Given the description of an element on the screen output the (x, y) to click on. 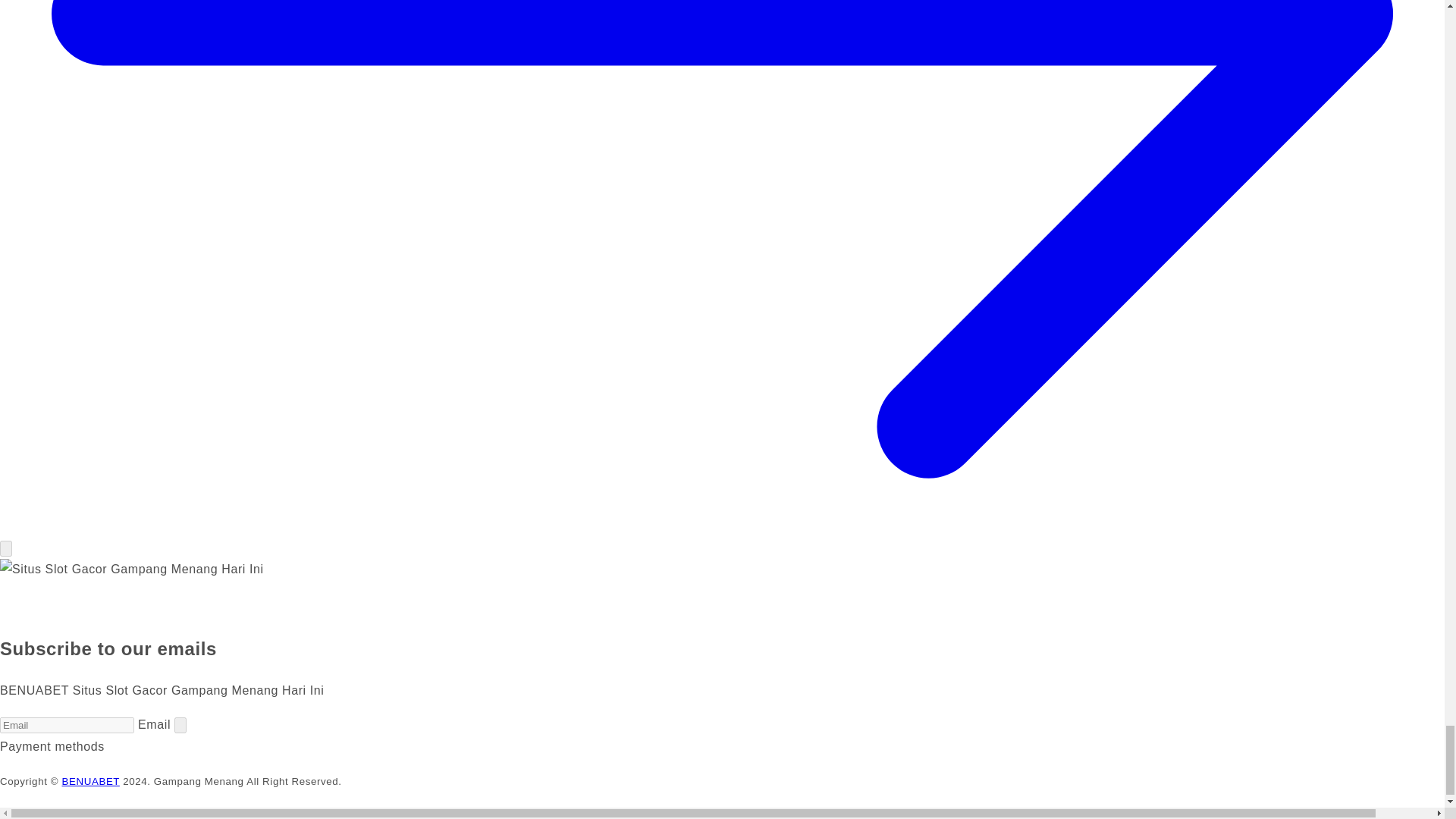
BENUABET (90, 781)
